Given the description of an element on the screen output the (x, y) to click on. 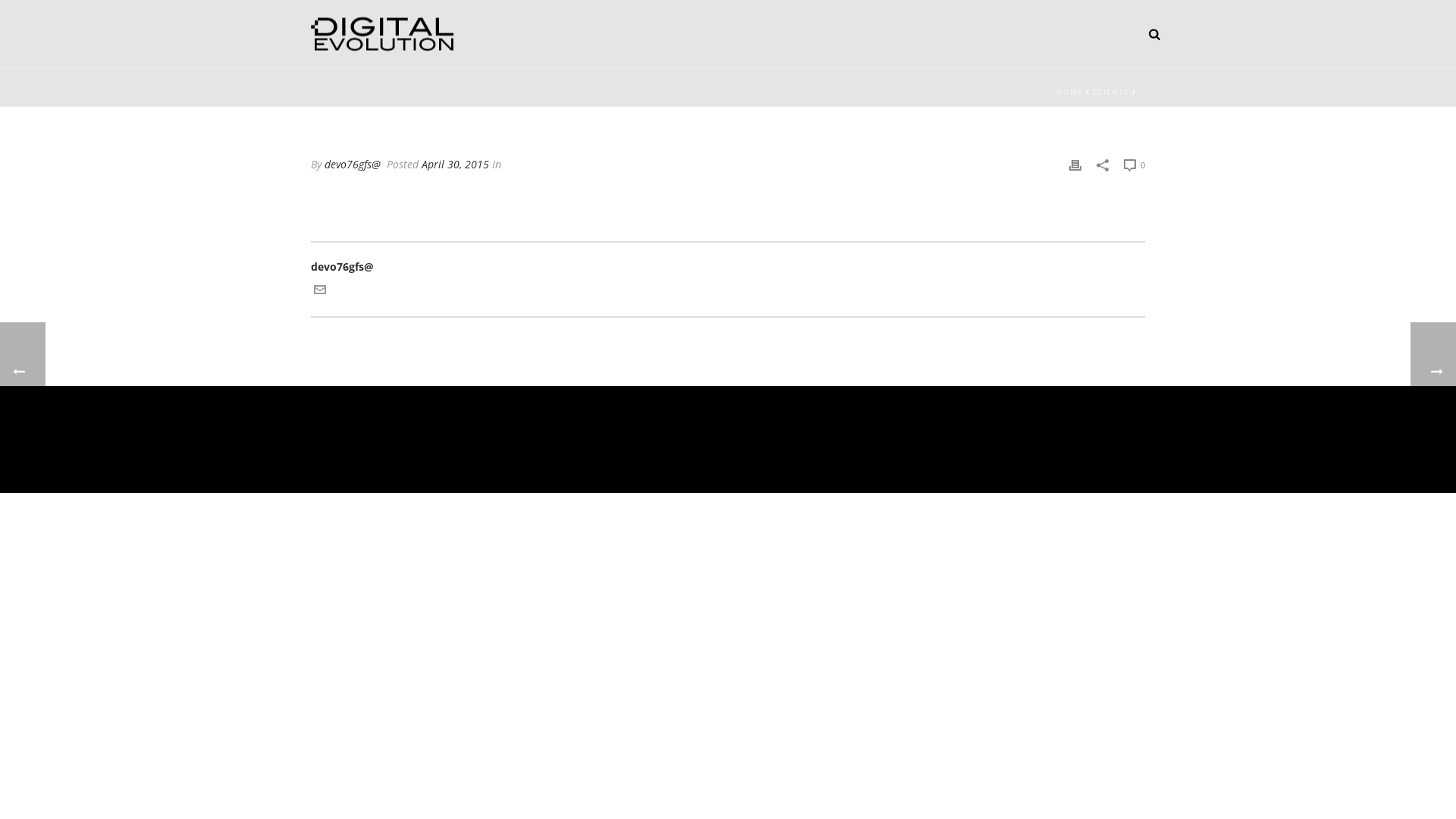
0 Element type: text (1134, 164)
devo76gfs@ Element type: text (352, 163)
Print Element type: hover (1075, 163)
CLIENTS Element type: text (1110, 91)
Get in touch with me via email Element type: hover (319, 291)
devo76gfs@ Element type: text (727, 266)
HOME Element type: text (1069, 91)
April 30, 2015 Element type: text (455, 163)
Website development, hosting and security Element type: hover (381, 33)
